Given the description of an element on the screen output the (x, y) to click on. 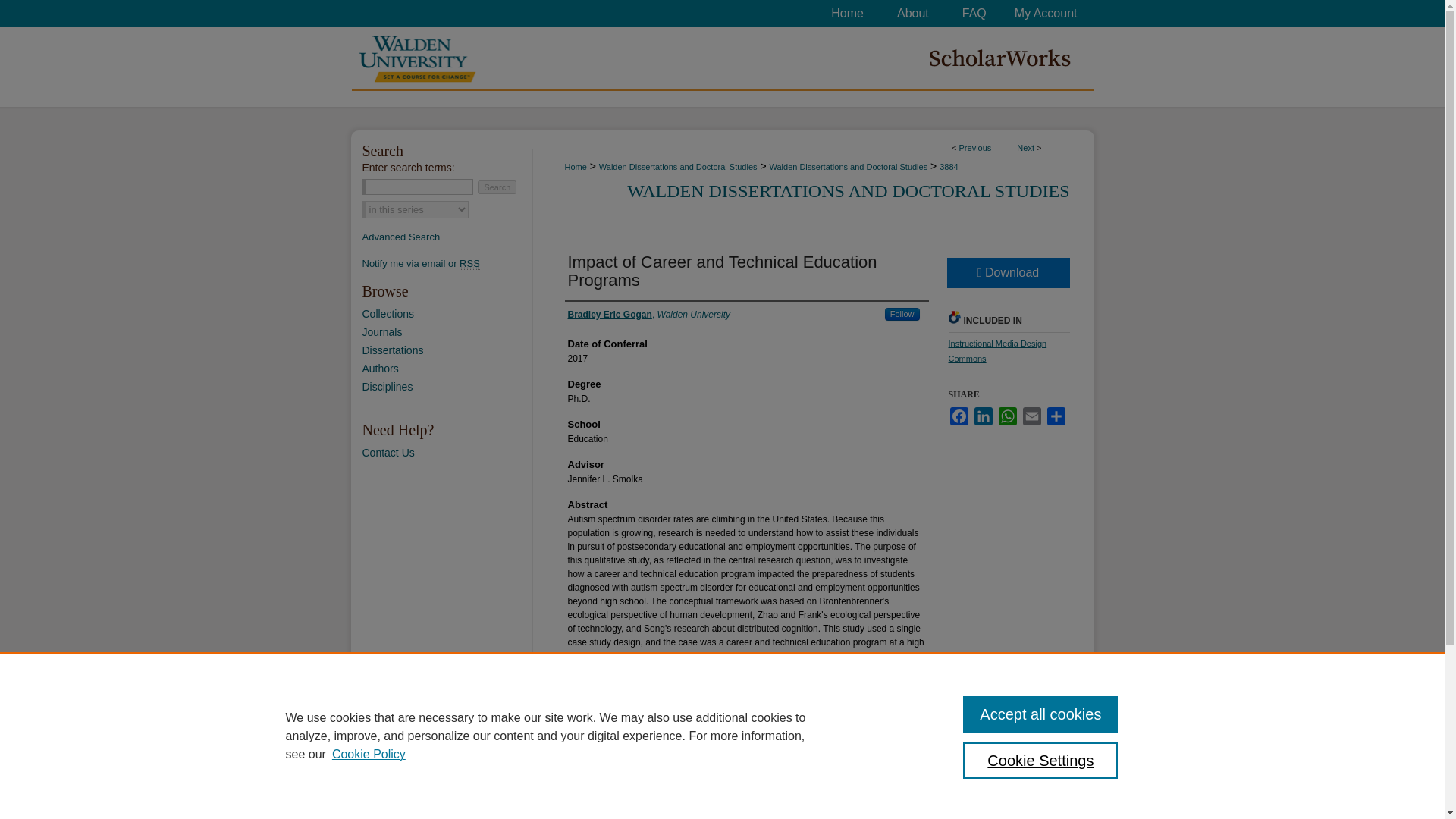
Really Simple Syndication (470, 263)
WALDEN DISSERTATIONS AND DOCTORAL STUDIES (847, 190)
Notify me via email or RSS (447, 263)
Walden Dissertations and Doctoral Studies (677, 166)
Bradley Eric Gogan, Walden University (648, 314)
Journals (447, 331)
Facebook (958, 416)
Home (575, 166)
Authors (447, 368)
Instructional Media Design Commons (996, 351)
Search (496, 187)
Follow (902, 314)
Walden Dissertations and Doctoral Studies (847, 166)
Home (846, 13)
Email or RSS Notifications (447, 263)
